Given the description of an element on the screen output the (x, y) to click on. 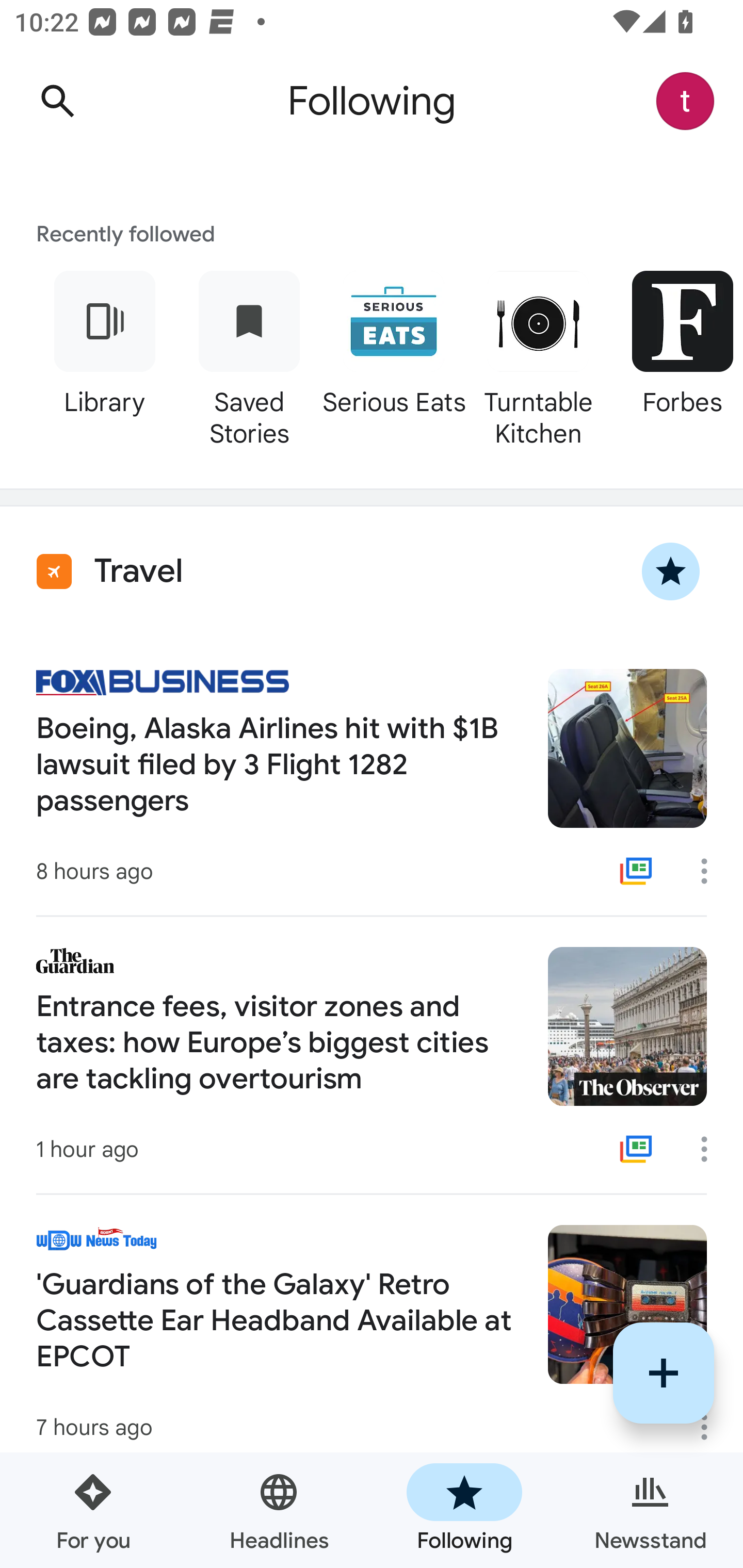
Search (57, 100)
Library (104, 355)
Saved Stories (248, 355)
Serious Eats (393, 355)
Turntable Kitchen (537, 355)
Forbes (676, 355)
Travel Travel Unfollow (371, 571)
Unfollow (670, 571)
More options (711, 870)
More options (711, 1149)
Follow (663, 1372)
More options (711, 1426)
For you (92, 1509)
Headlines (278, 1509)
Following (464, 1509)
Newsstand (650, 1509)
